Given the description of an element on the screen output the (x, y) to click on. 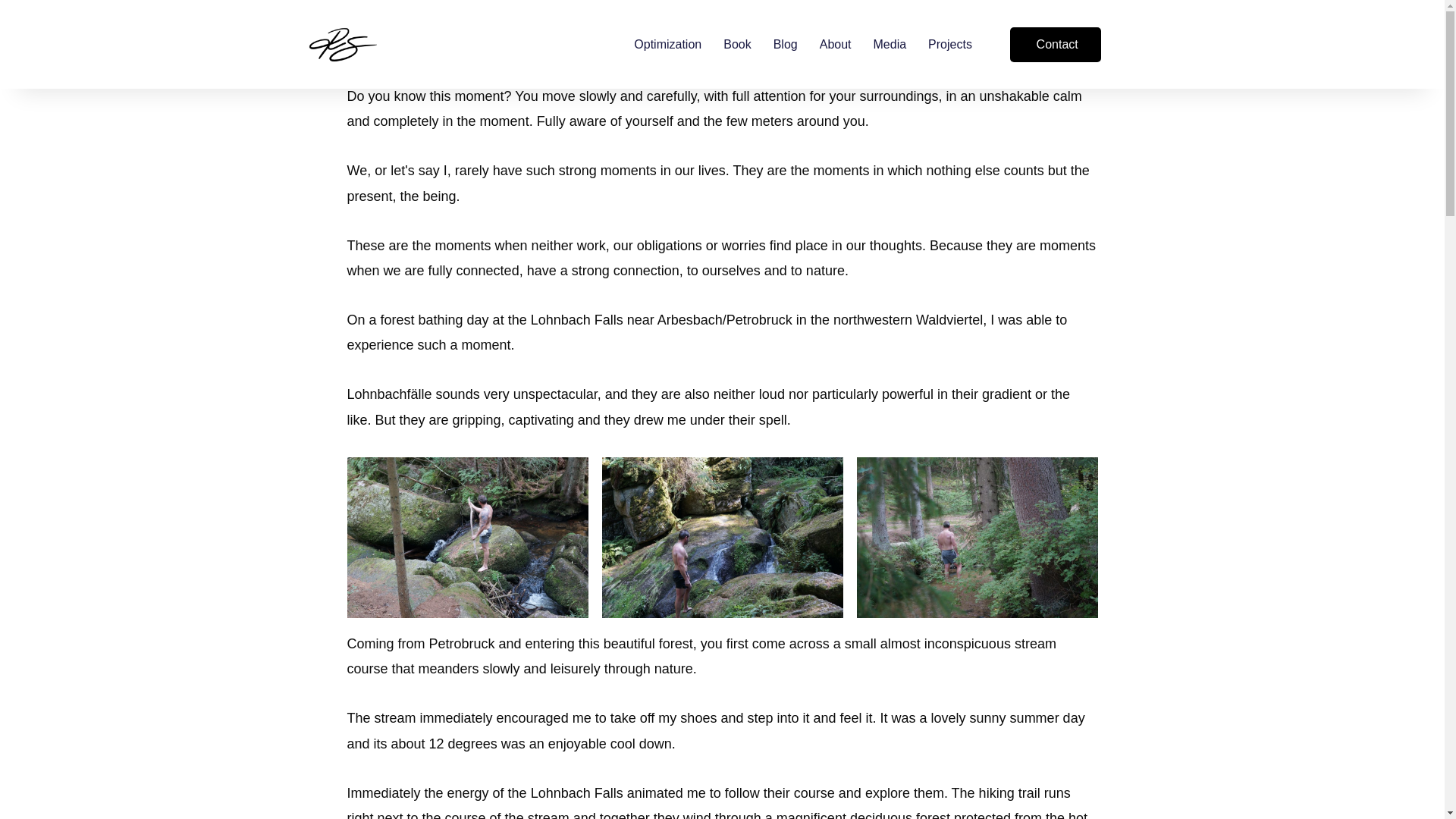
About (835, 44)
Projects (950, 44)
Media (890, 44)
Optimization (667, 44)
